Given the description of an element on the screen output the (x, y) to click on. 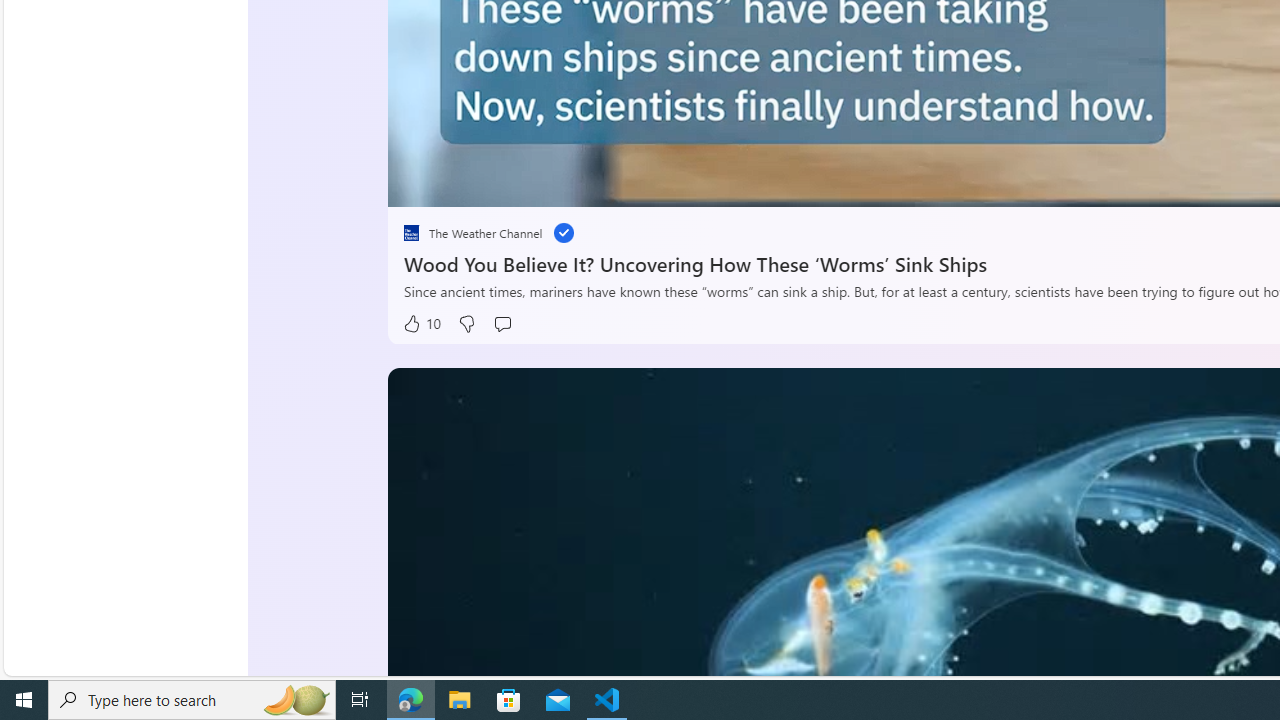
To get missing image descriptions, open the context menu. (458, 182)
Seek Back (457, 185)
Seek Forward (497, 185)
Pause (417, 185)
placeholder (411, 232)
placeholder The Weather Channel (473, 232)
10 Like (422, 324)
